Given the description of an element on the screen output the (x, y) to click on. 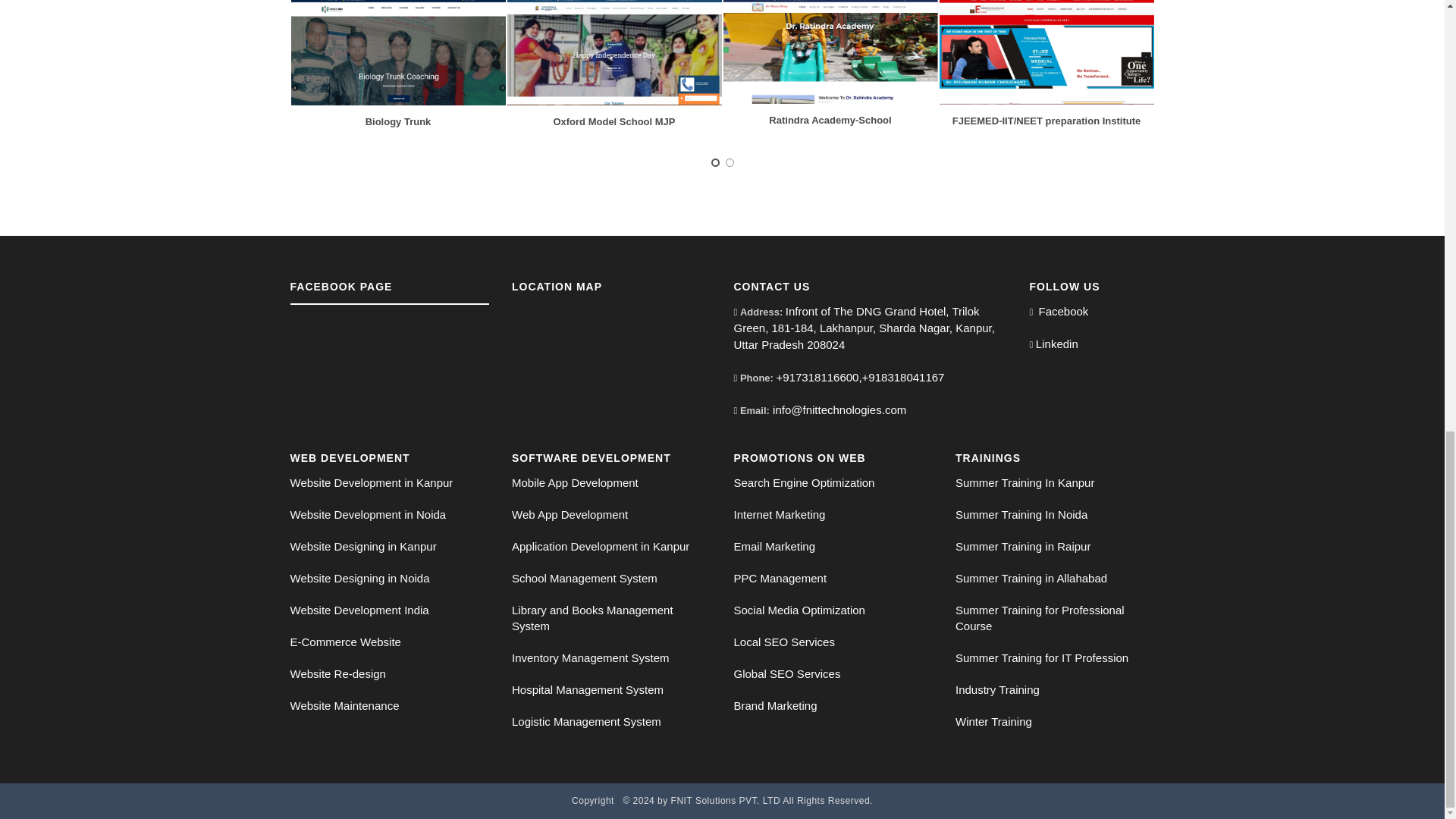
Linkedin Link (1056, 344)
Linkedin (1056, 344)
Oxford Model School MJP (614, 121)
Biology Trunk (397, 121)
Facebook Link (1062, 311)
Facebook (1062, 311)
Ratindra Academy-School (829, 120)
